Given the description of an element on the screen output the (x, y) to click on. 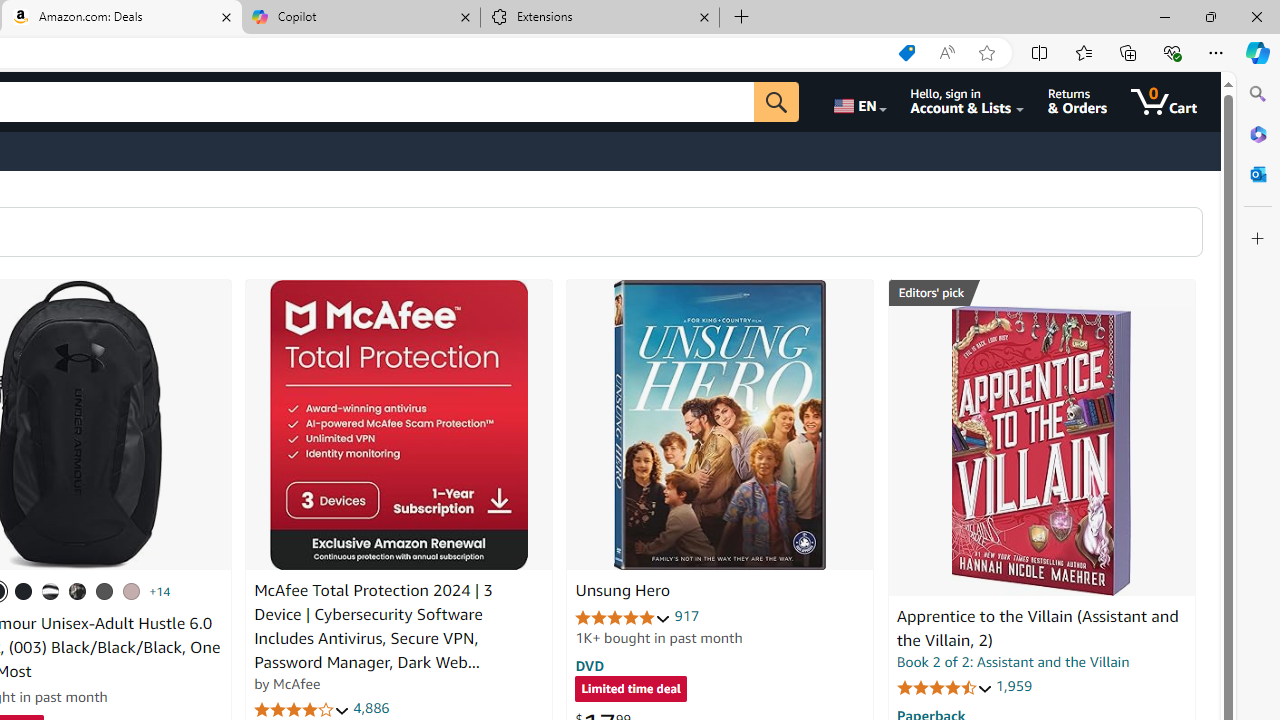
(001) Black / Black / Metallic Gold (24, 591)
Returns & Orders (1077, 101)
Hello, sign in Account & Lists (967, 101)
Unsung Hero (622, 591)
4.1 out of 5 stars (301, 709)
Limited time deal (630, 690)
4,886 (371, 708)
(005) Black Full Heather / Black / Metallic Gold (104, 591)
Apprentice to the Villain (Assistant and the Villain, 2) (1037, 628)
(015) Tetra Gray / Tetra Gray / Gray Matter (131, 591)
4.9 out of 5 stars (623, 616)
